Given the description of an element on the screen output the (x, y) to click on. 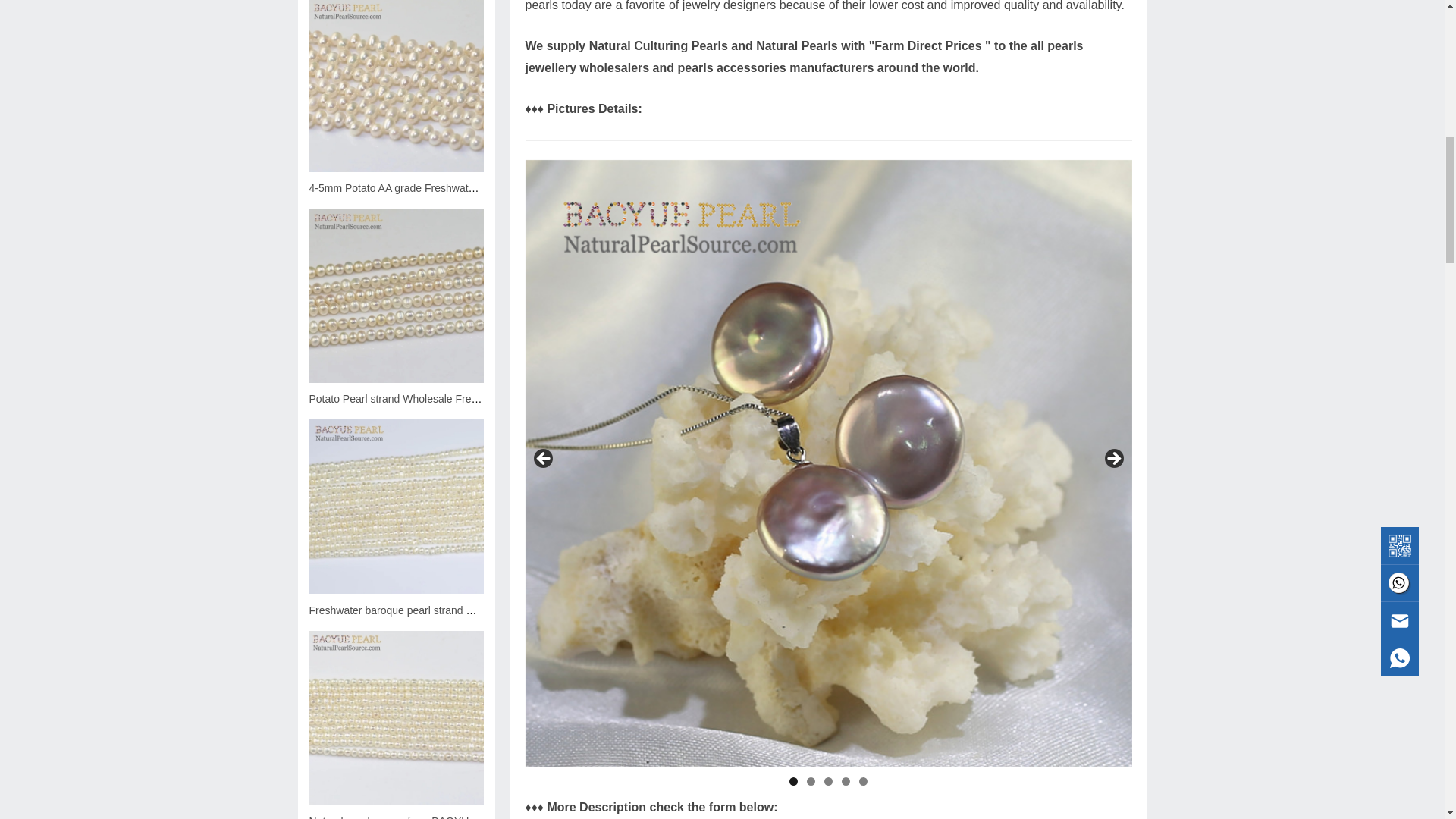
Freshwater baroque pearl strand wholesale (395, 506)
Natural pearl source from BAOYUE PEARL (395, 717)
4-5mm Potato AA grade Freshwater Natural pearl wholesale (395, 85)
